Given the description of an element on the screen output the (x, y) to click on. 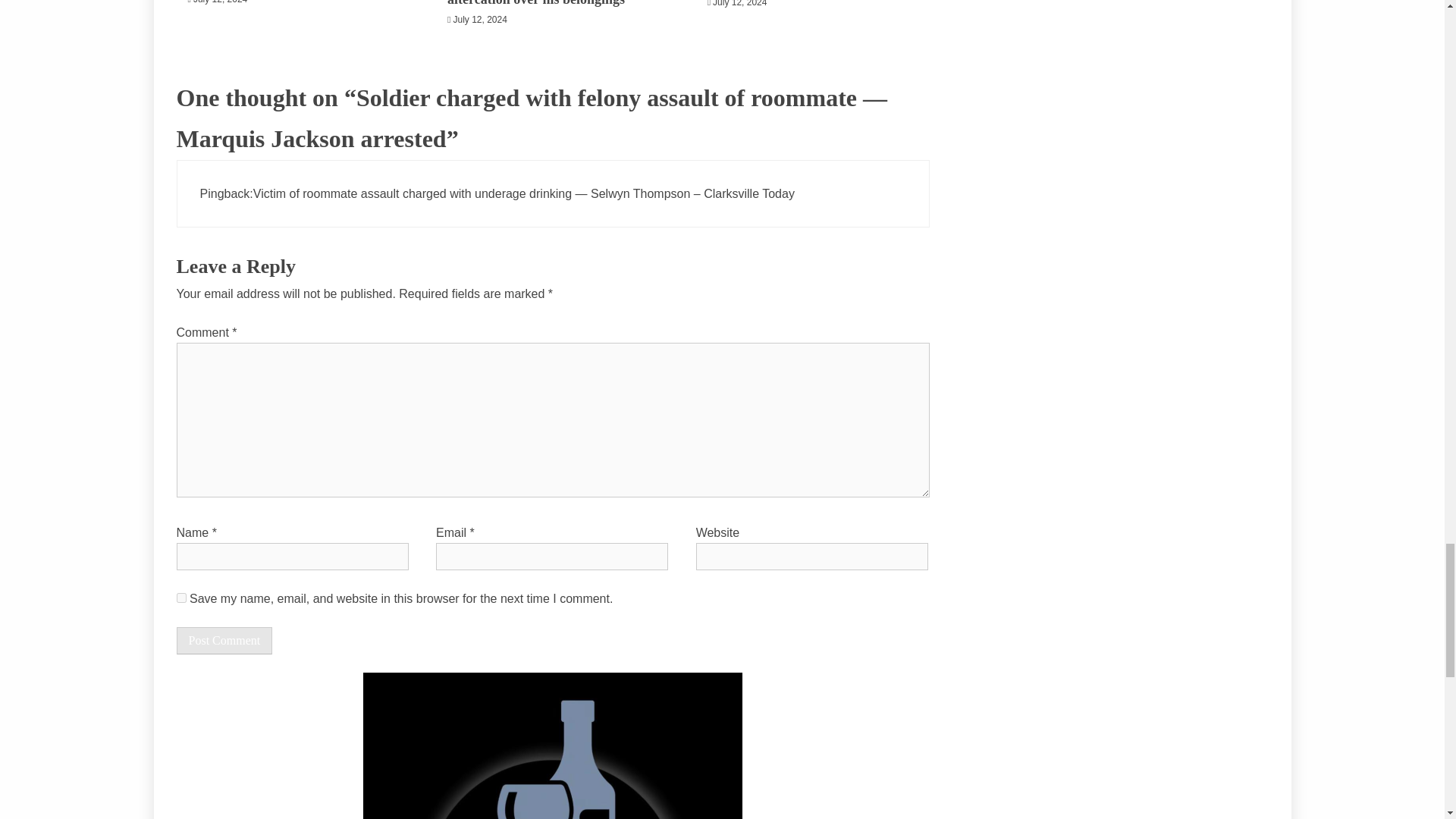
Post Comment (224, 640)
yes (181, 597)
